Given the description of an element on the screen output the (x, y) to click on. 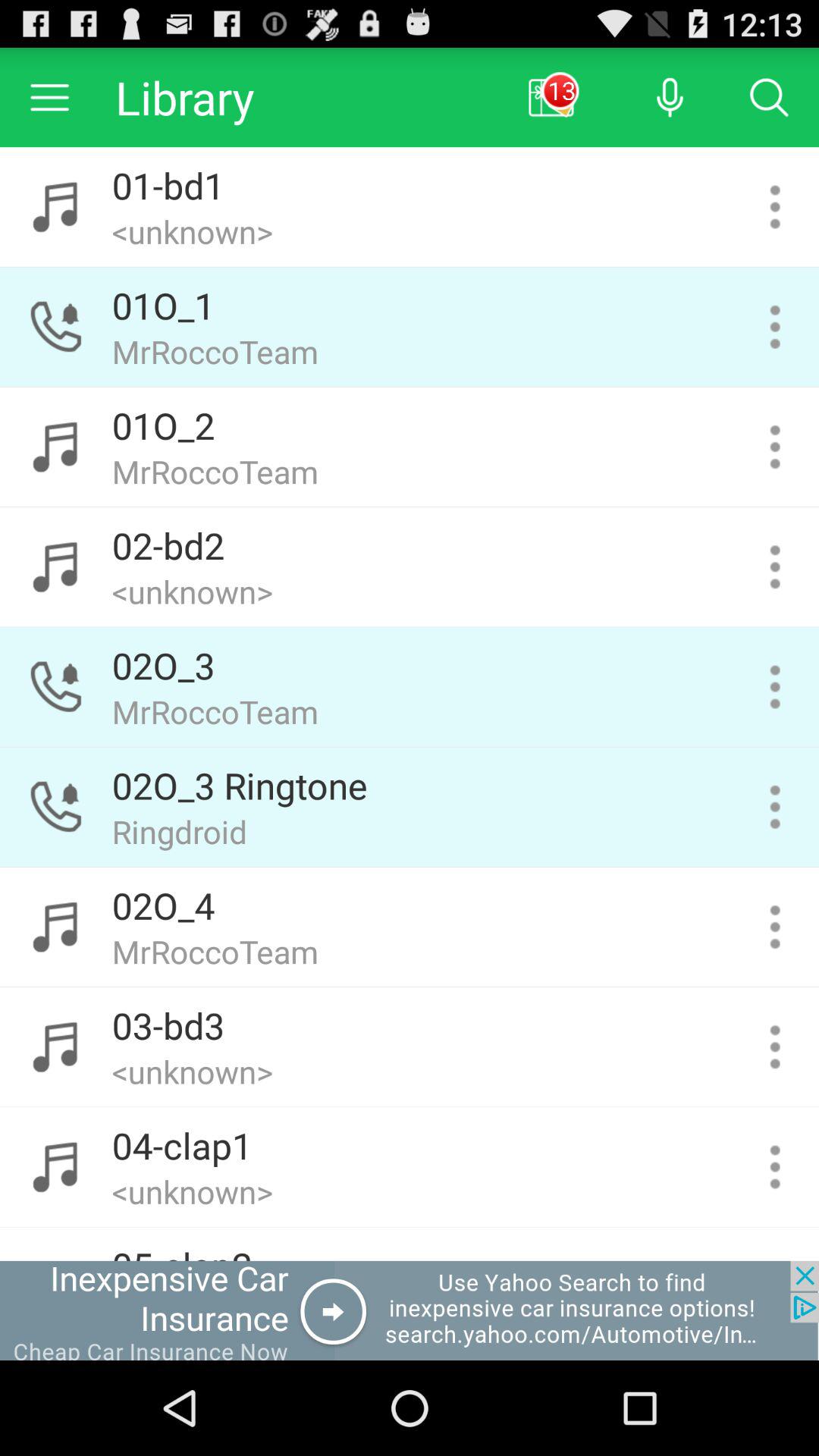
click to more option (775, 326)
